Given the description of an element on the screen output the (x, y) to click on. 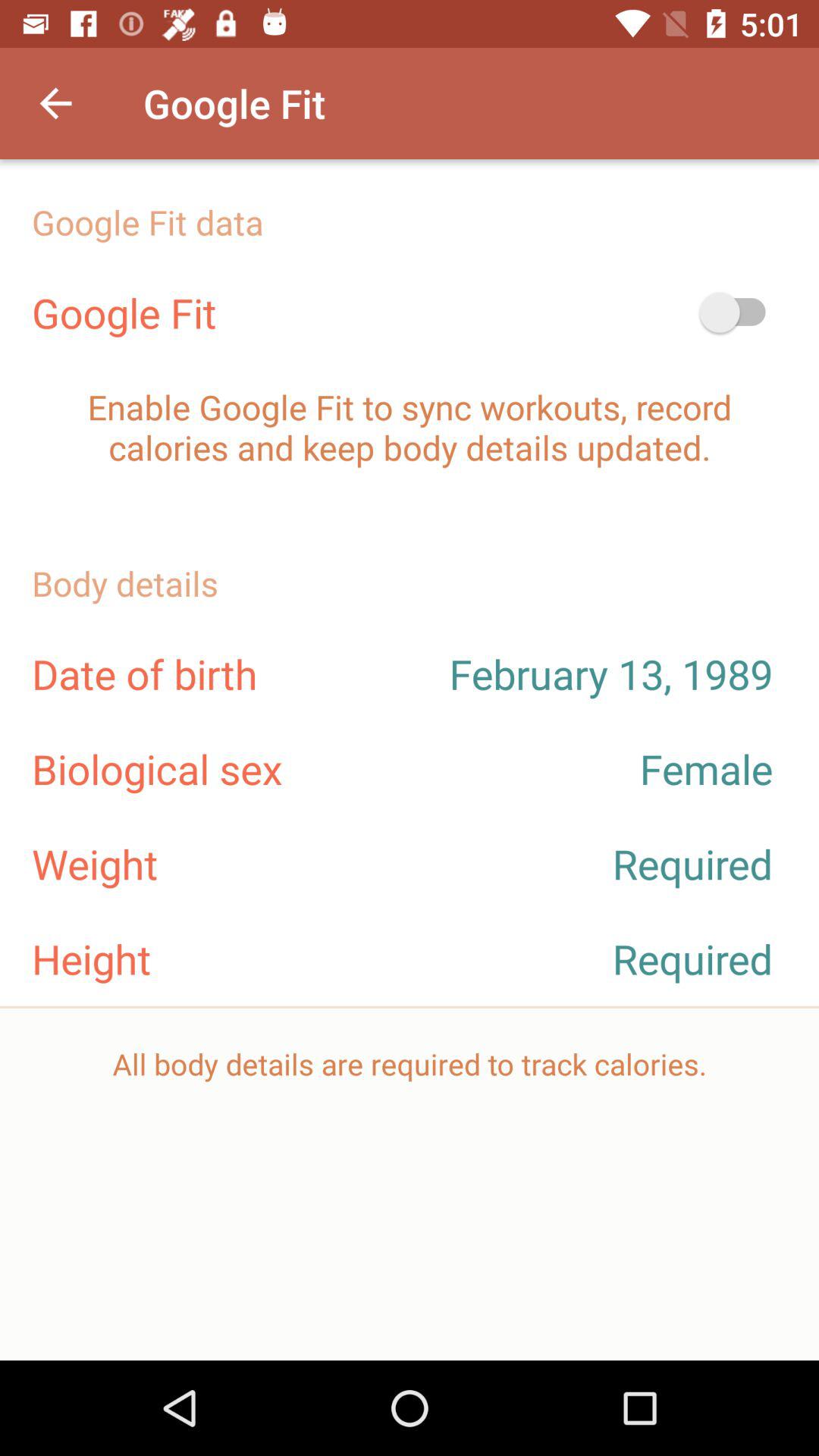
click on switch button which is next to google fit (739, 312)
